Given the description of an element on the screen output the (x, y) to click on. 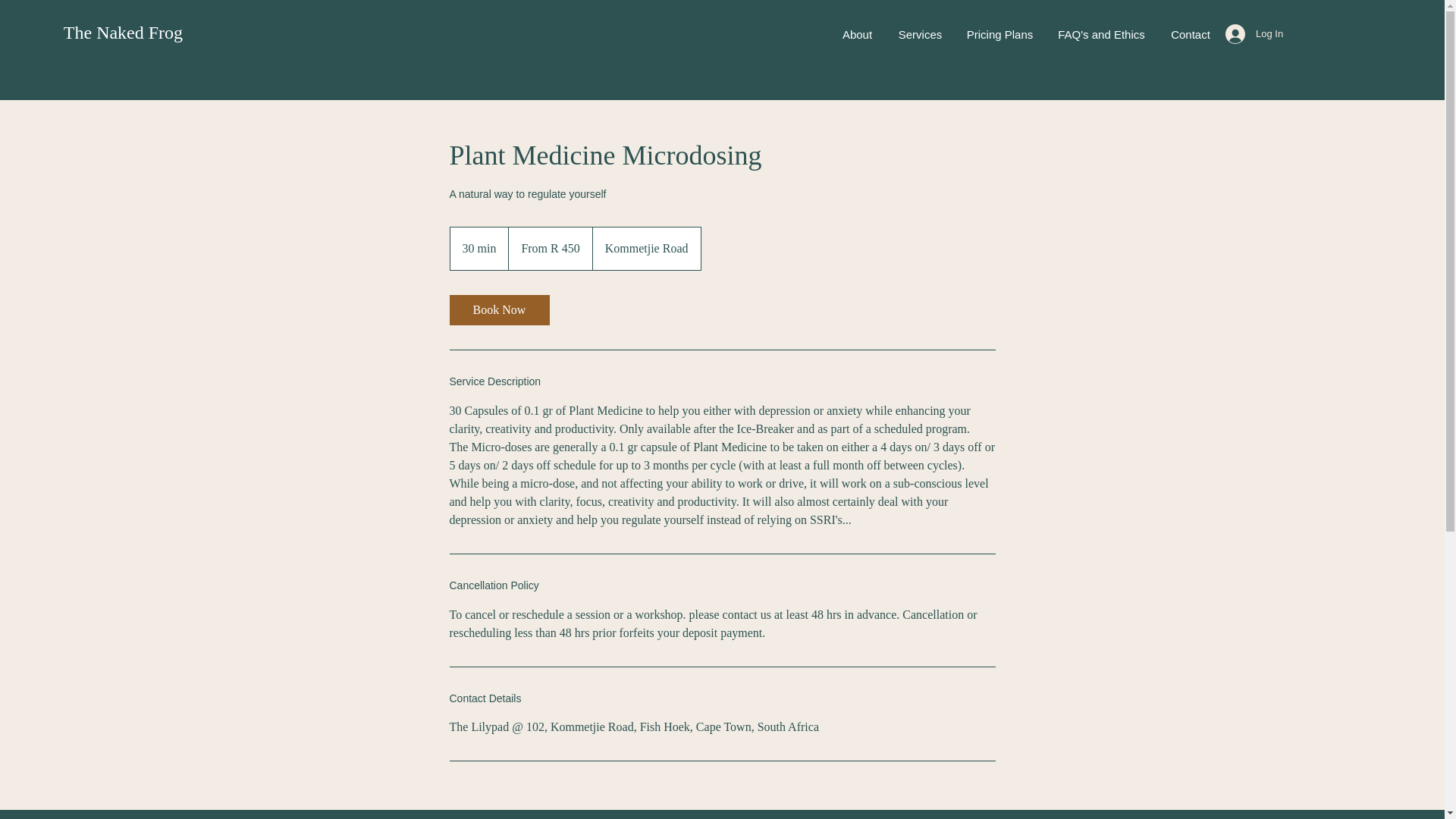
Book Now (498, 309)
Pricing Plans (999, 34)
About (857, 34)
Log In (1246, 33)
Contact (1190, 34)
The Naked Frog (123, 32)
FAQ's and Ethics (1101, 34)
Services (919, 34)
